Given the description of an element on the screen output the (x, y) to click on. 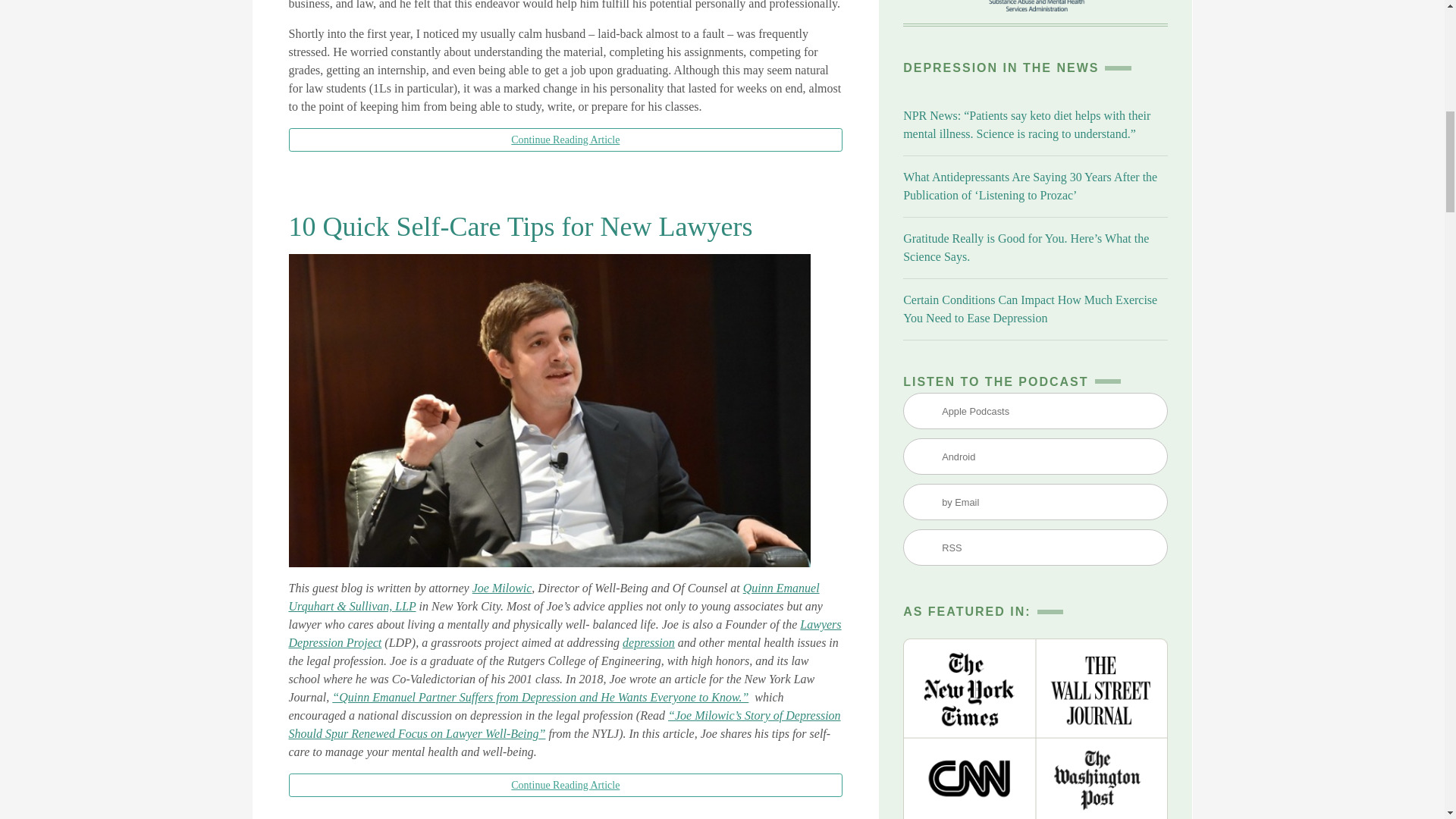
Continue Reading Article (565, 784)
depression (649, 642)
10 Quick Self-Care Tips for New Lawyers (520, 226)
Continue Reading Article (565, 139)
Joe Milowic (501, 587)
Lawyers Depression Project (564, 633)
